Given the description of an element on the screen output the (x, y) to click on. 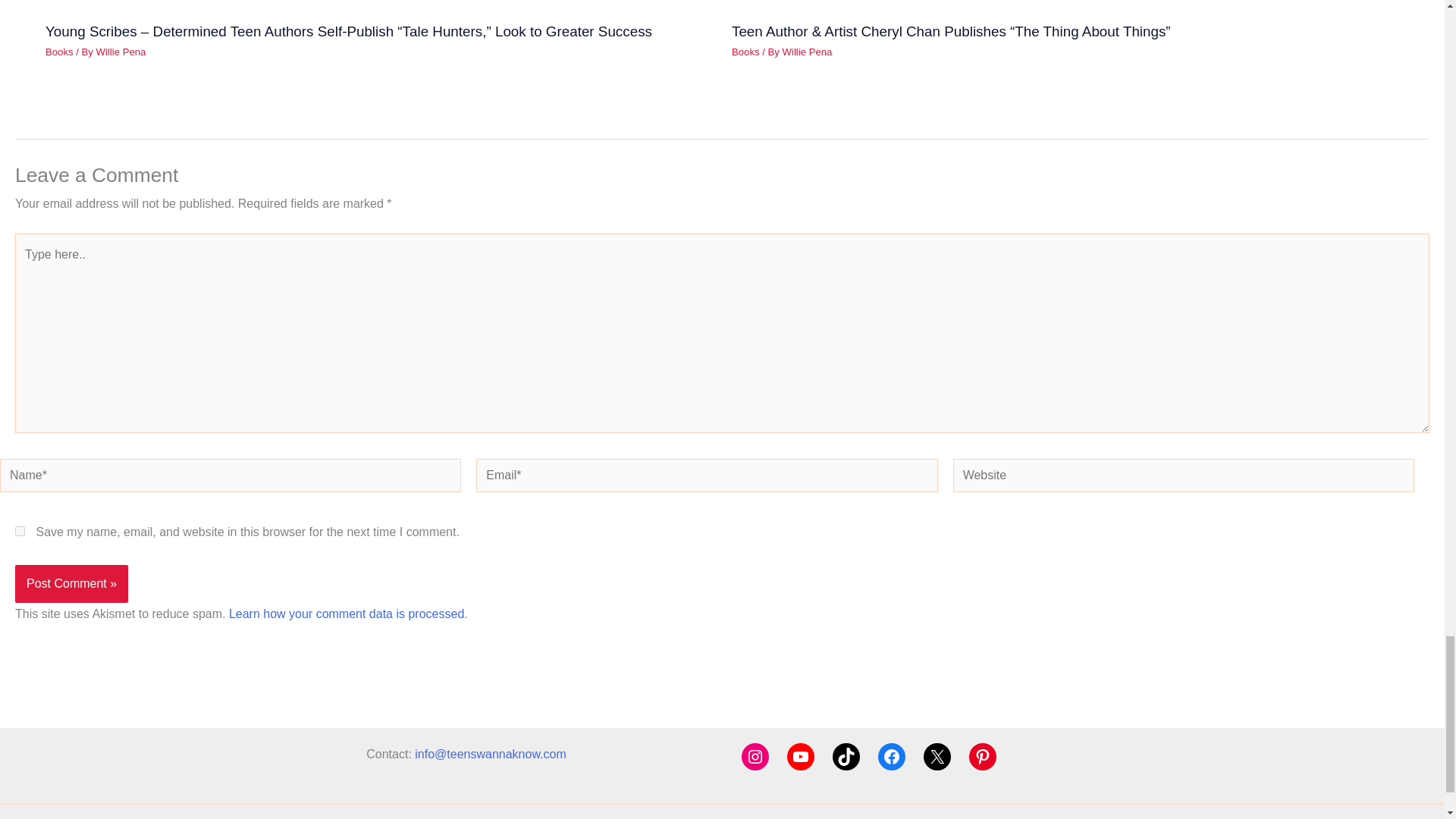
yes (19, 531)
View all posts by Willie Pena (807, 51)
View all posts by Willie Pena (121, 51)
